Given the description of an element on the screen output the (x, y) to click on. 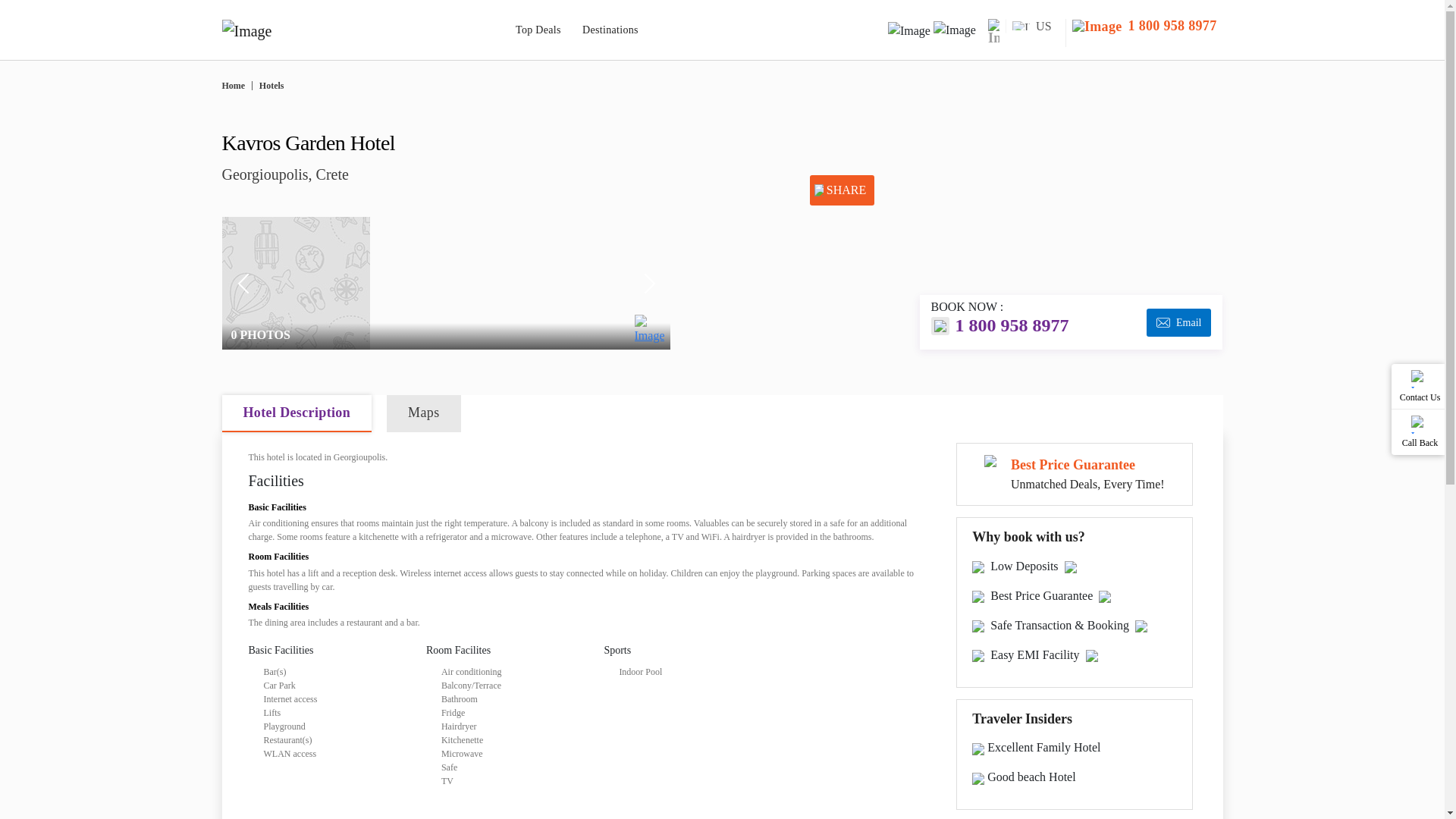
Top Deals (539, 29)
US (1034, 25)
GET A CALL BACK (1174, 24)
1 800 958 8977 (1144, 26)
Destinations (611, 29)
